Given the description of an element on the screen output the (x, y) to click on. 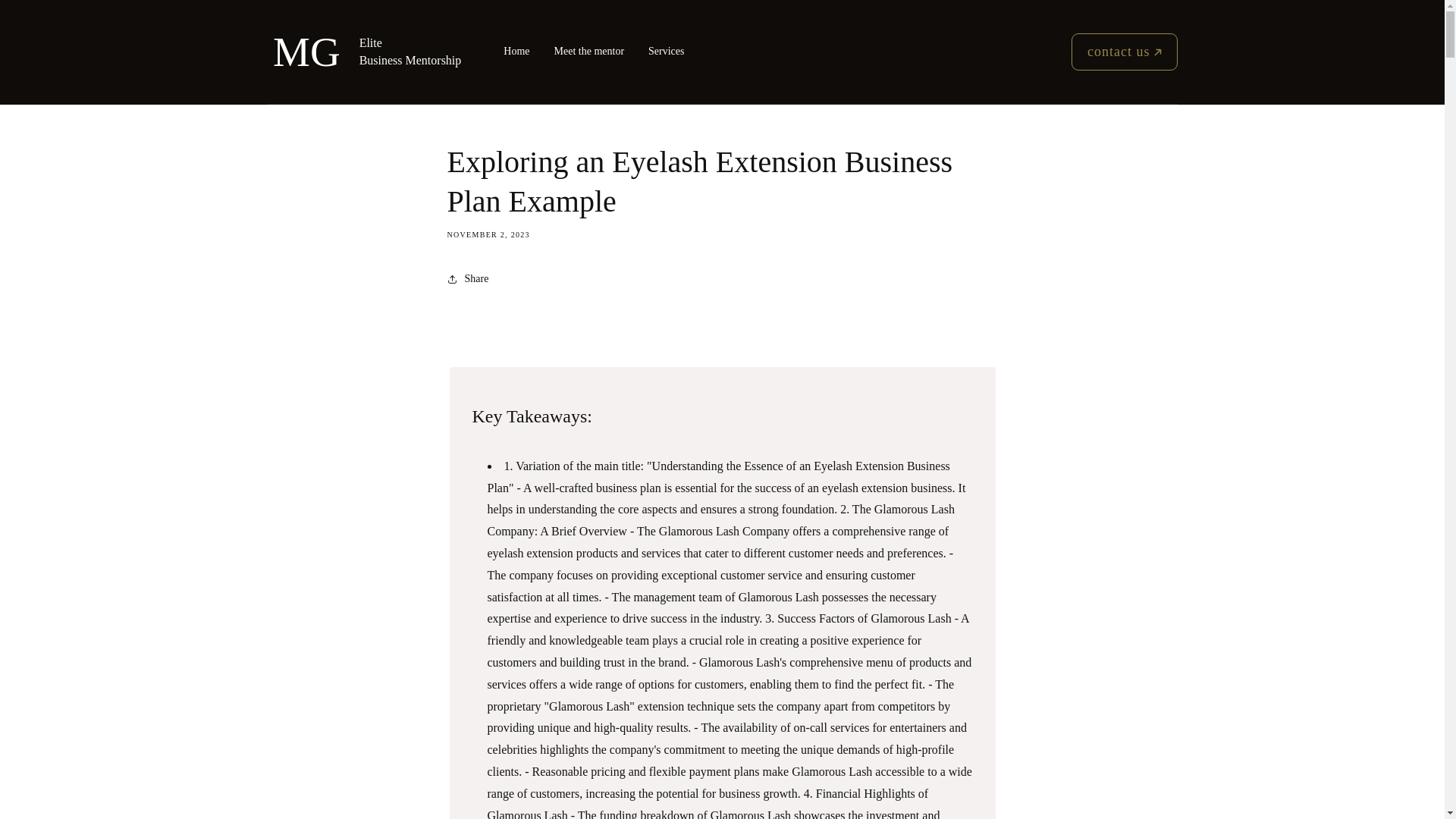
Skip to content (45, 26)
contact us (1123, 52)
Home (516, 51)
Services (665, 51)
Meet the mentor (589, 51)
